Given the description of an element on the screen output the (x, y) to click on. 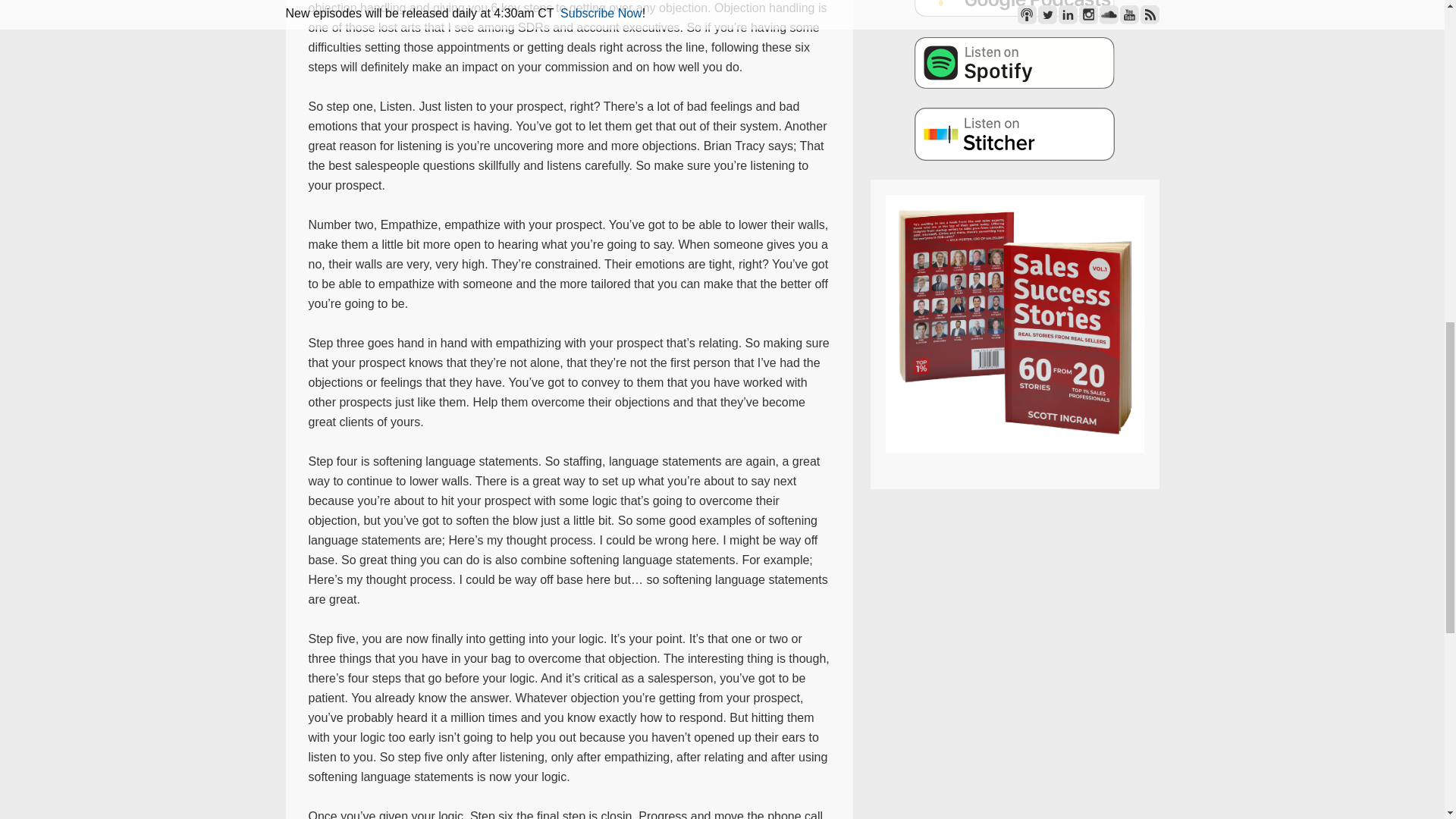
Daily Sales Tips on Spotify (1014, 62)
Daily Sales Tips on Google Podcasts (1014, 8)
Daily Sales Tips on Stitcher (1014, 133)
